Given the description of an element on the screen output the (x, y) to click on. 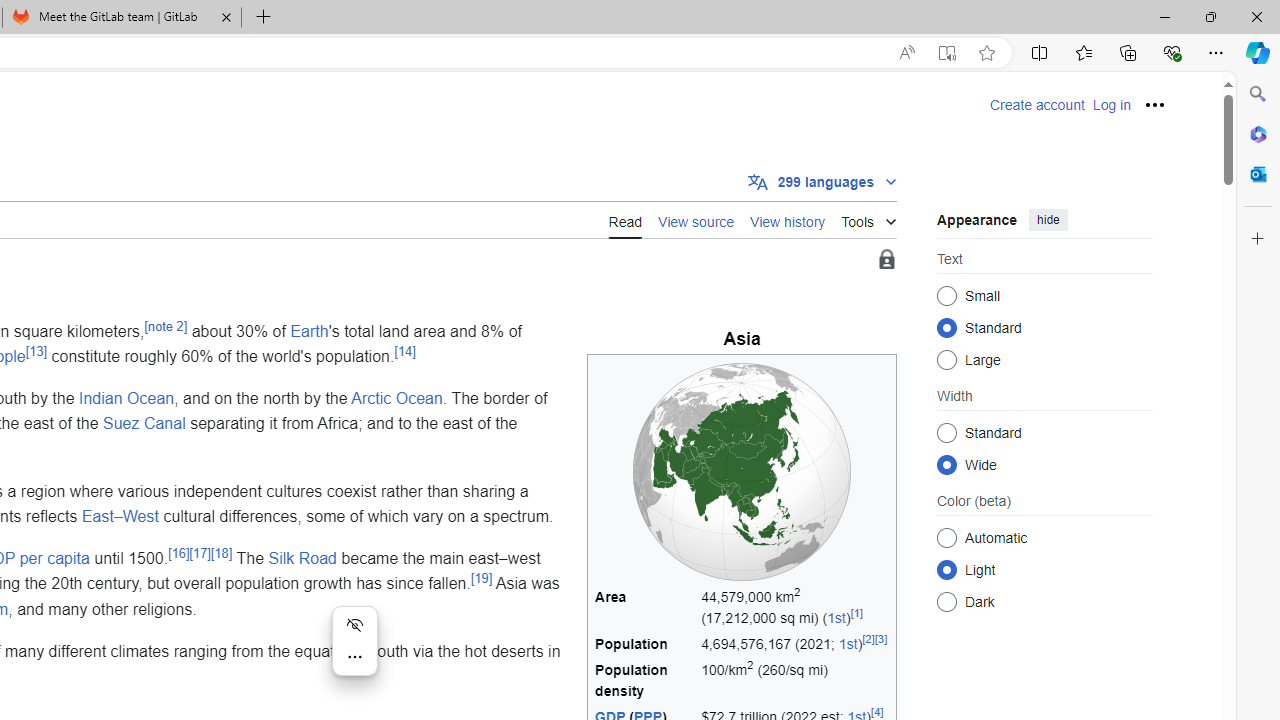
100/km2 (260/sq mi) (795, 681)
Log in (1111, 105)
[17] (200, 552)
Log in (1111, 105)
Population density (645, 681)
Mini menu on text selection (354, 652)
Dark (946, 601)
[1] (856, 612)
[18] (220, 552)
